Given the description of an element on the screen output the (x, y) to click on. 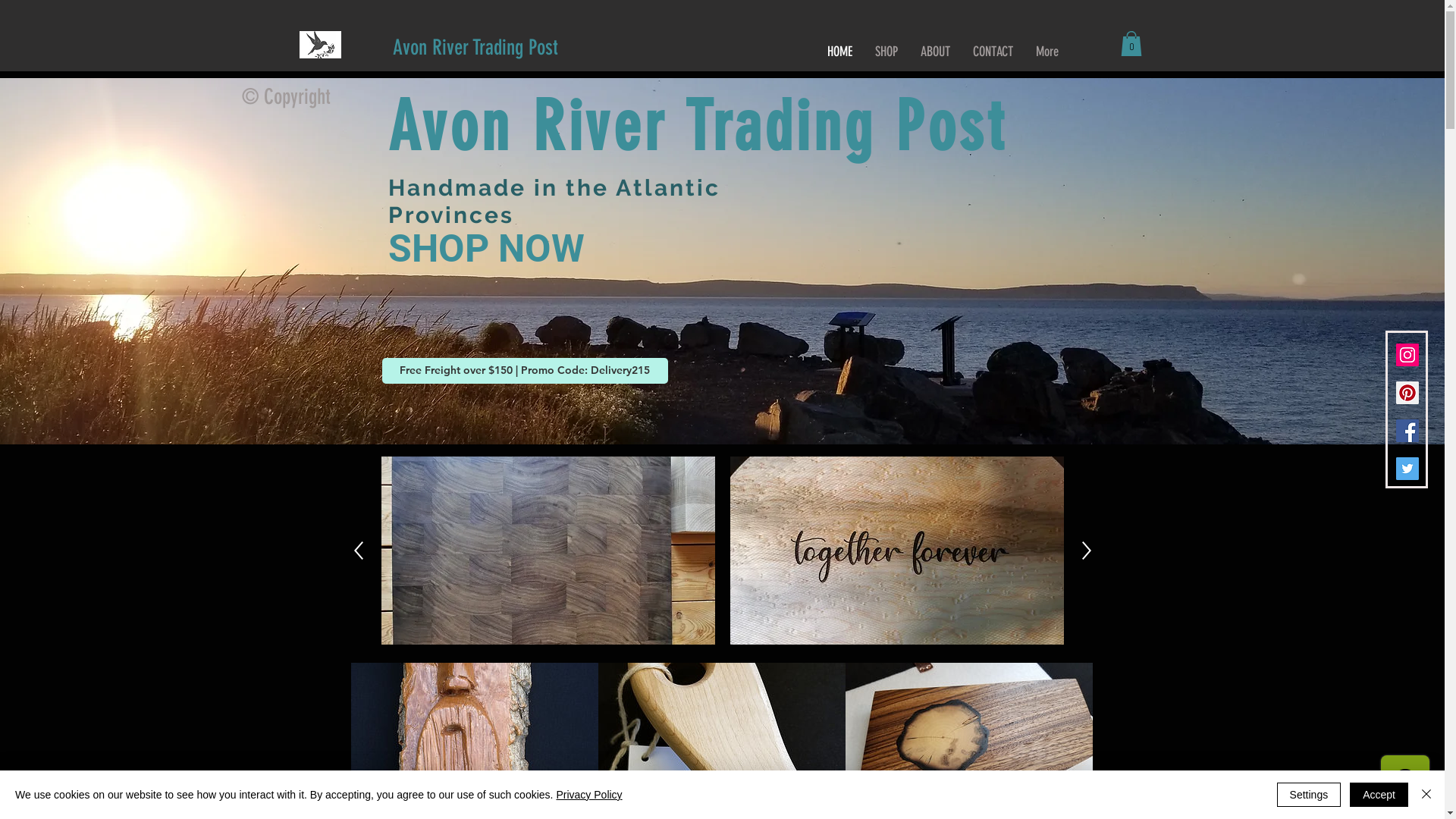
Accept Element type: text (1378, 794)
CONTACT Element type: text (992, 51)
Settings Element type: text (1309, 794)
Site Search Element type: hover (693, 47)
ABOUT Element type: text (934, 51)
0 Element type: text (1131, 43)
Privacy Policy Element type: text (588, 794)
HOME Element type: text (839, 51)
SHOP Element type: text (885, 51)
Free Freight over $150 | Promo Code: Delivery215 Element type: text (525, 370)
SHOP NOW Element type: text (486, 248)
Avon River Trading Post Element type: text (474, 47)
